Given the description of an element on the screen output the (x, y) to click on. 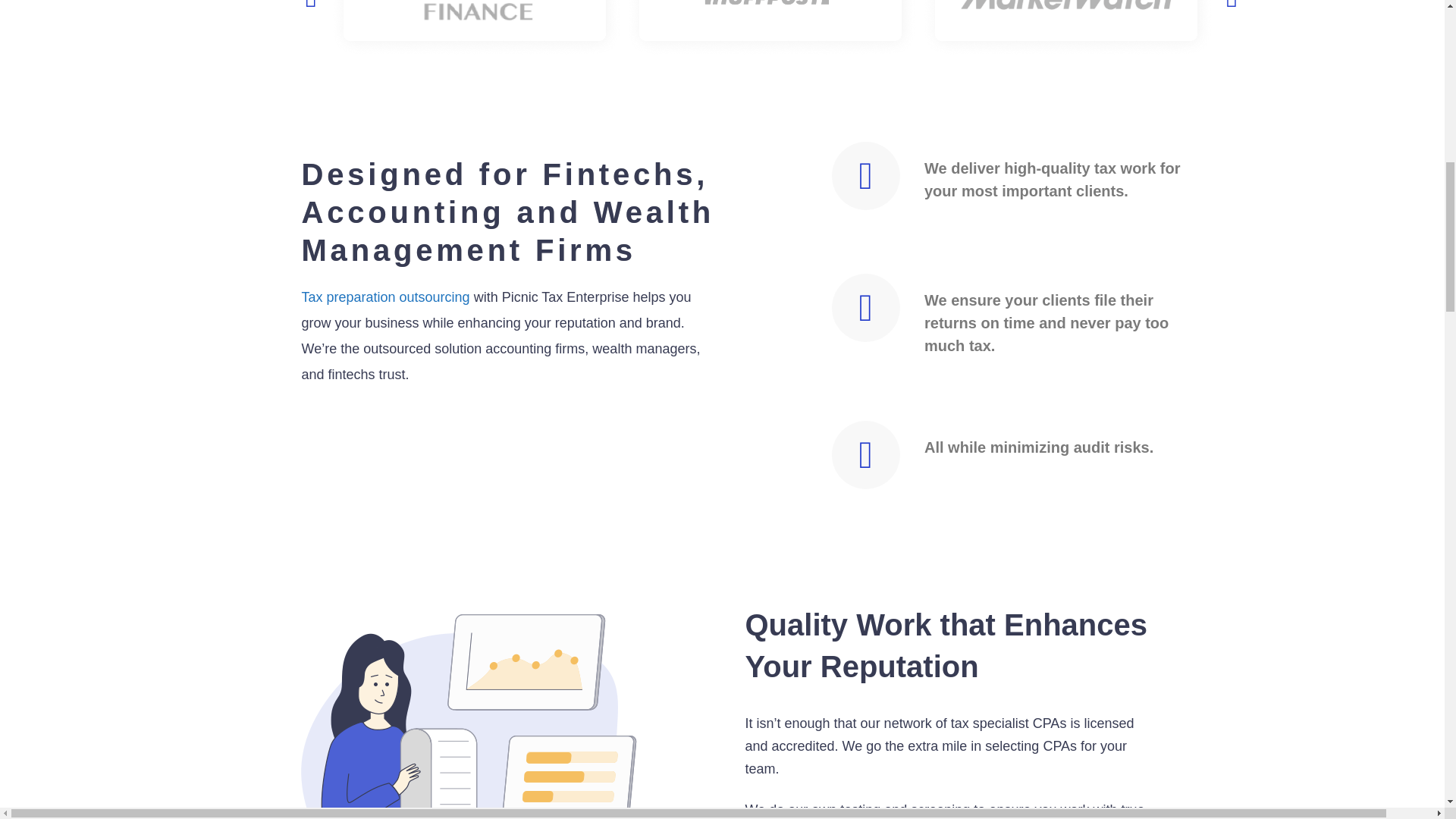
Tax preparation outsourcing (385, 296)
